Given the description of an element on the screen output the (x, y) to click on. 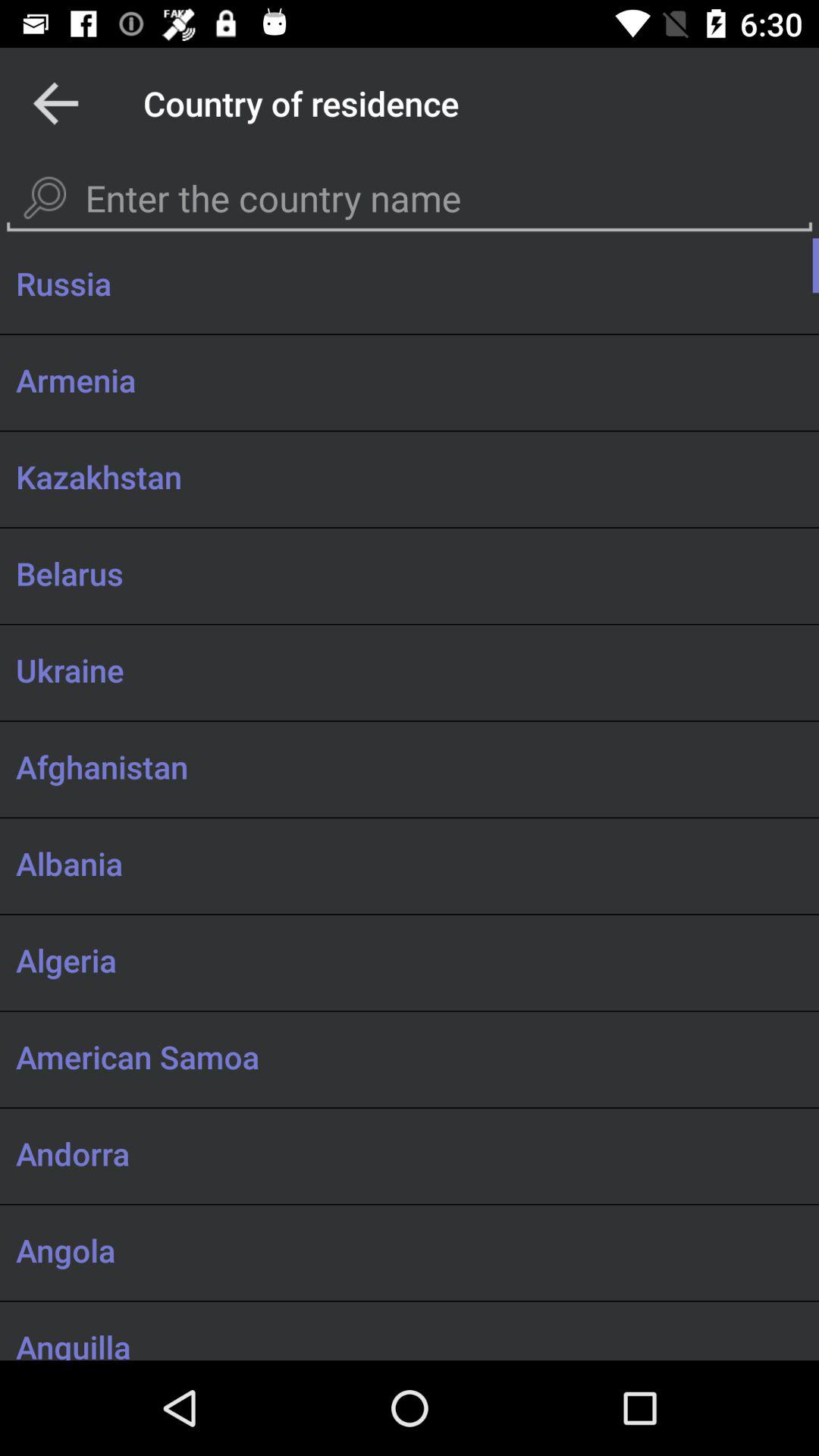
open keyboard to enter country name (409, 198)
